Given the description of an element on the screen output the (x, y) to click on. 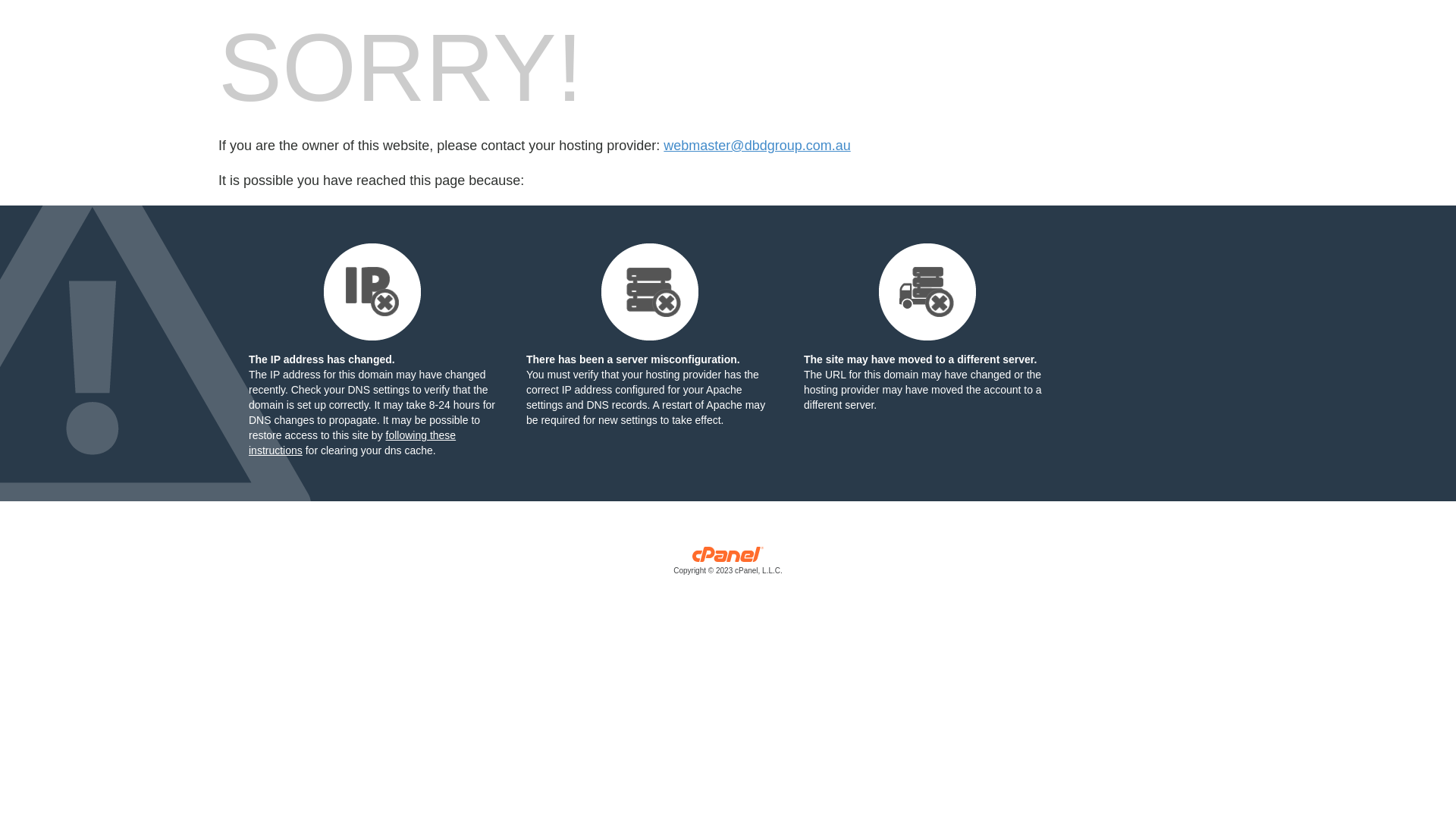
webmaster@dbdgroup.com.au Element type: text (756, 145)
following these instructions Element type: text (351, 442)
